Given the description of an element on the screen output the (x, y) to click on. 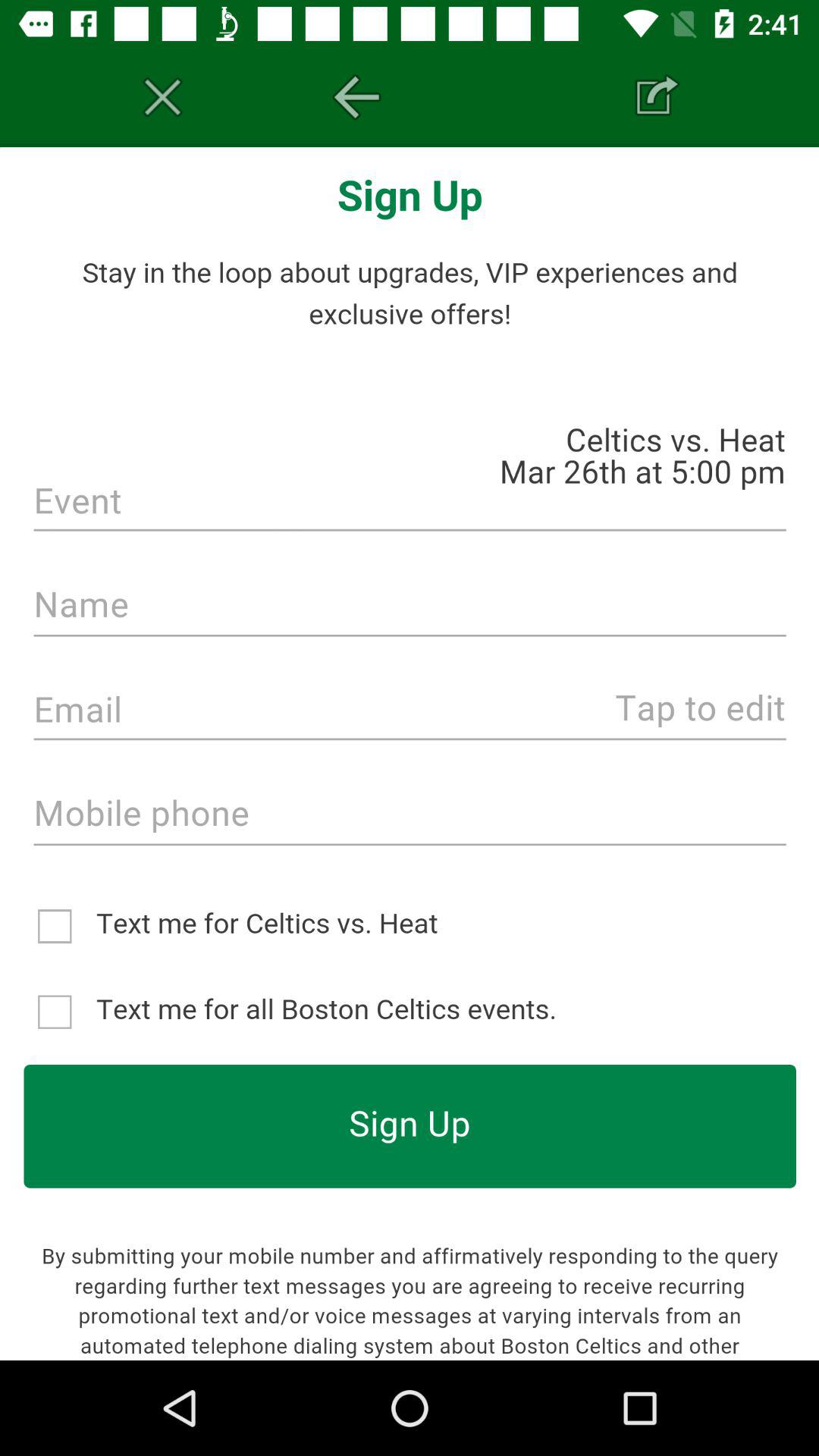
close screen (162, 97)
